Given the description of an element on the screen output the (x, y) to click on. 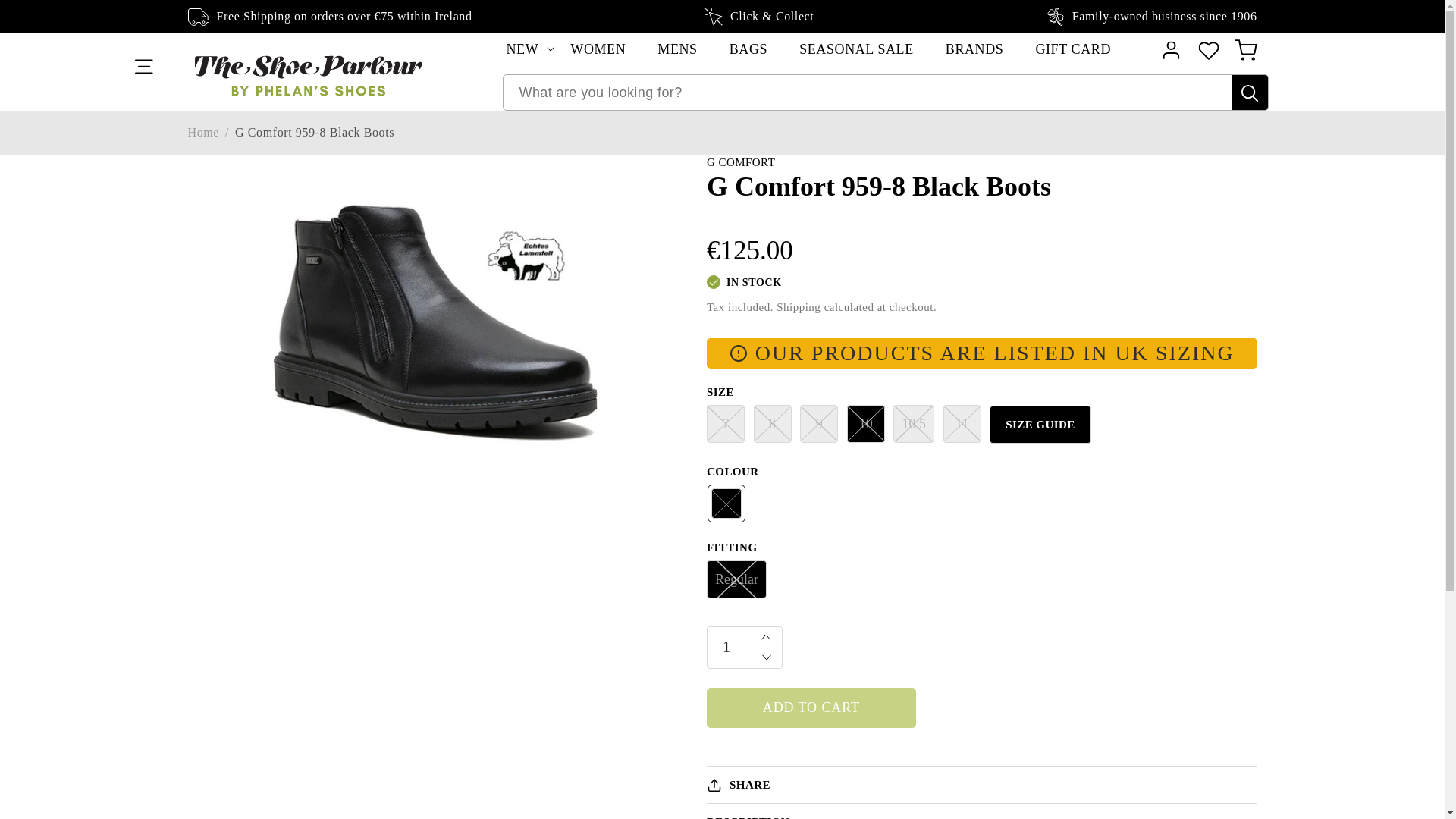
Home (203, 132)
GIFT CARD (1064, 49)
WOMEN (598, 49)
Family-owned business since 1906 (1151, 16)
1 (744, 647)
SEASONAL SALE (856, 49)
BAGS (748, 49)
BRANDS (975, 49)
